Given the description of an element on the screen output the (x, y) to click on. 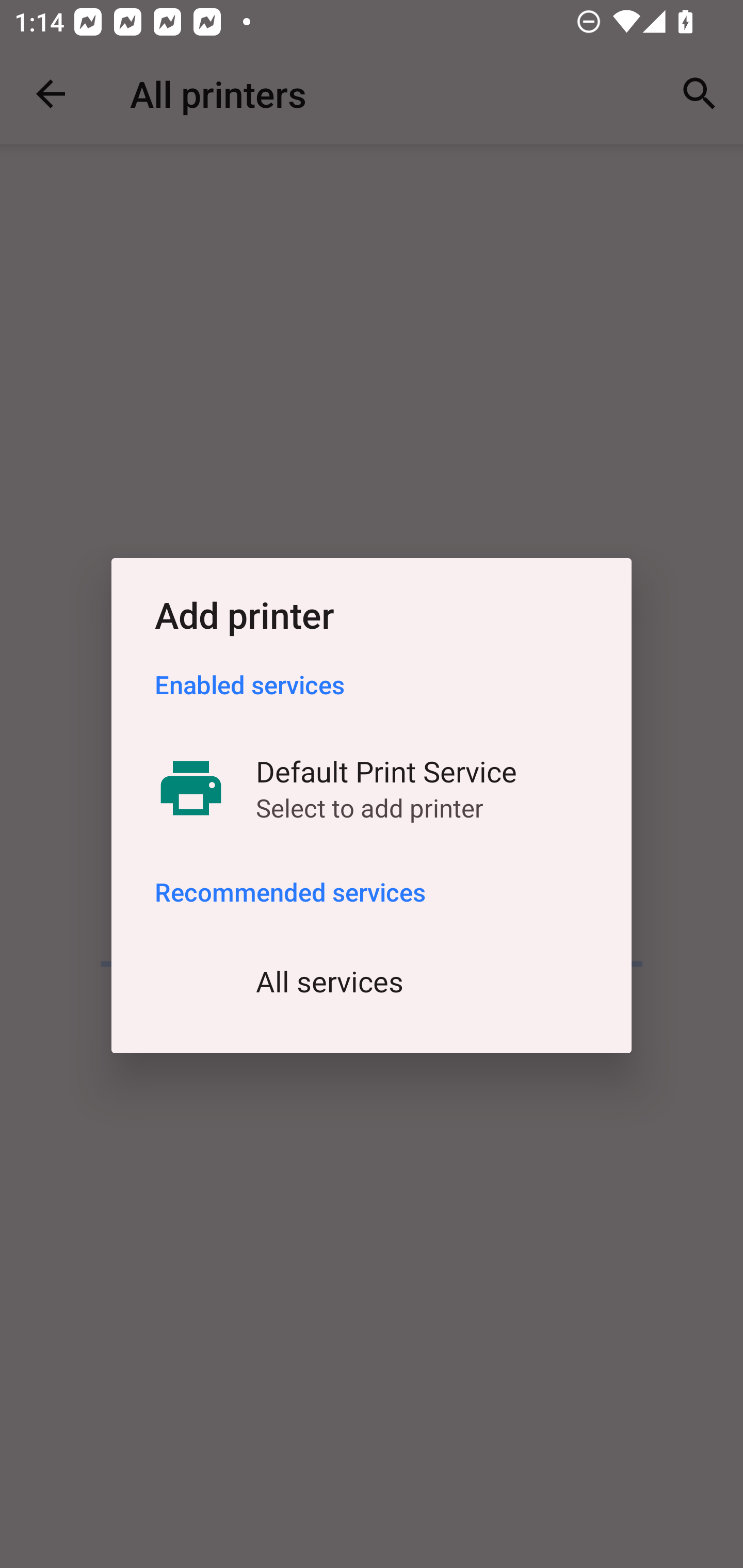
Default Print Service Select to add printer (371, 787)
All services (371, 980)
